Given the description of an element on the screen output the (x, y) to click on. 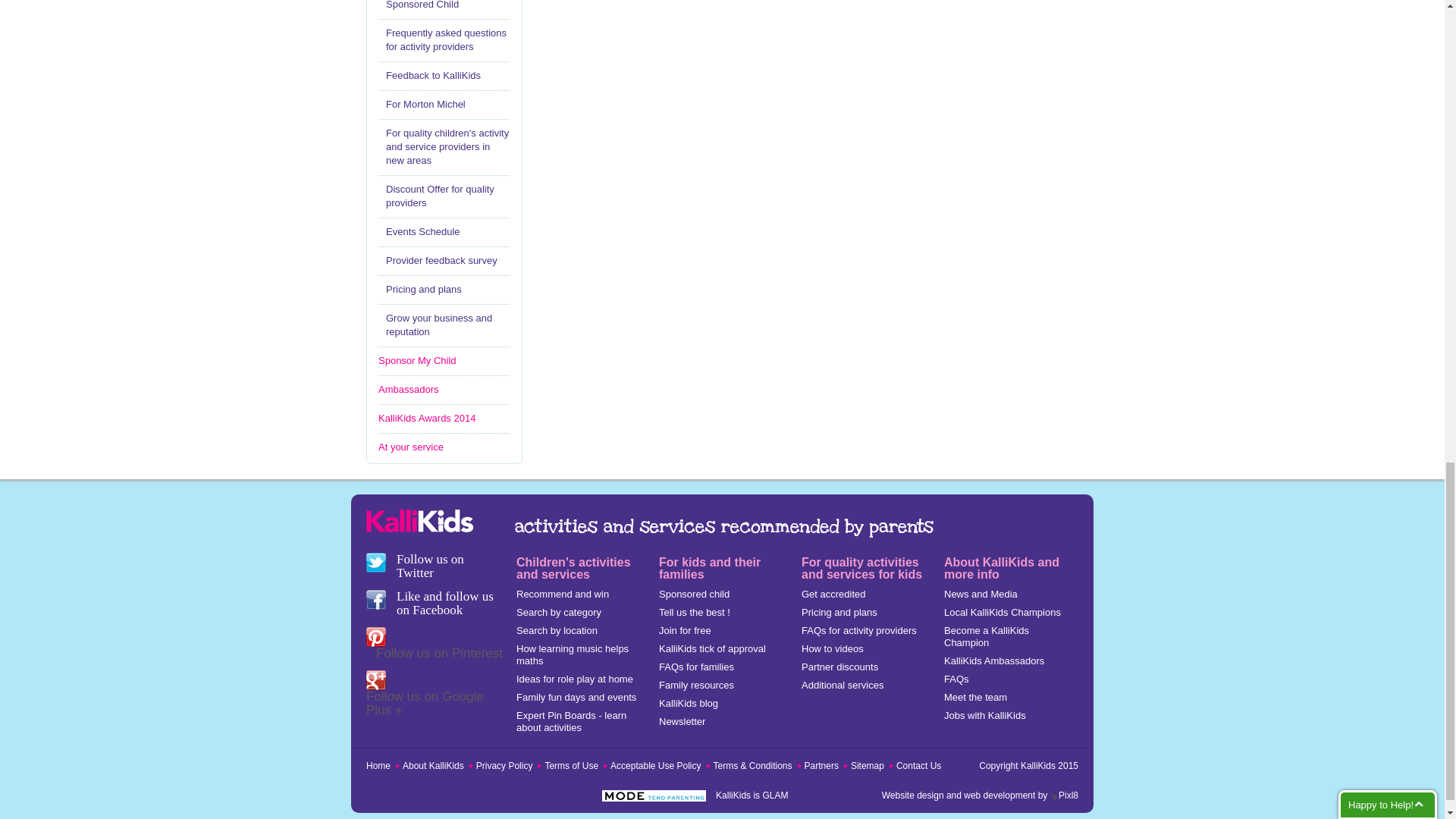
Feedback to KalliKids (444, 75)
Be promoted through Sponsored Child (444, 5)
Frequently asked questions for activity providers (444, 40)
